Given the description of an element on the screen output the (x, y) to click on. 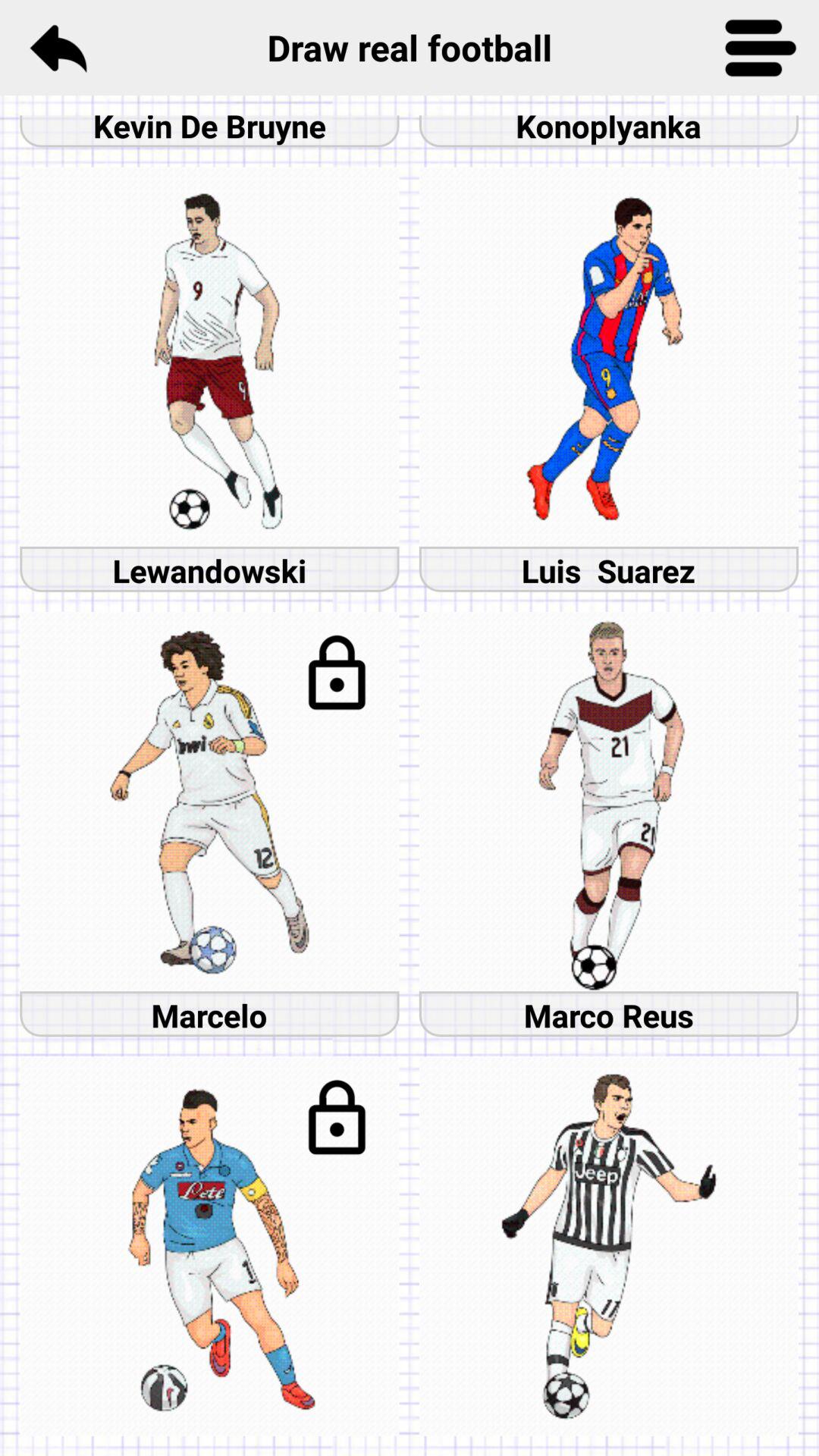
open item above kevin de bruyne icon (58, 47)
